Given the description of an element on the screen output the (x, y) to click on. 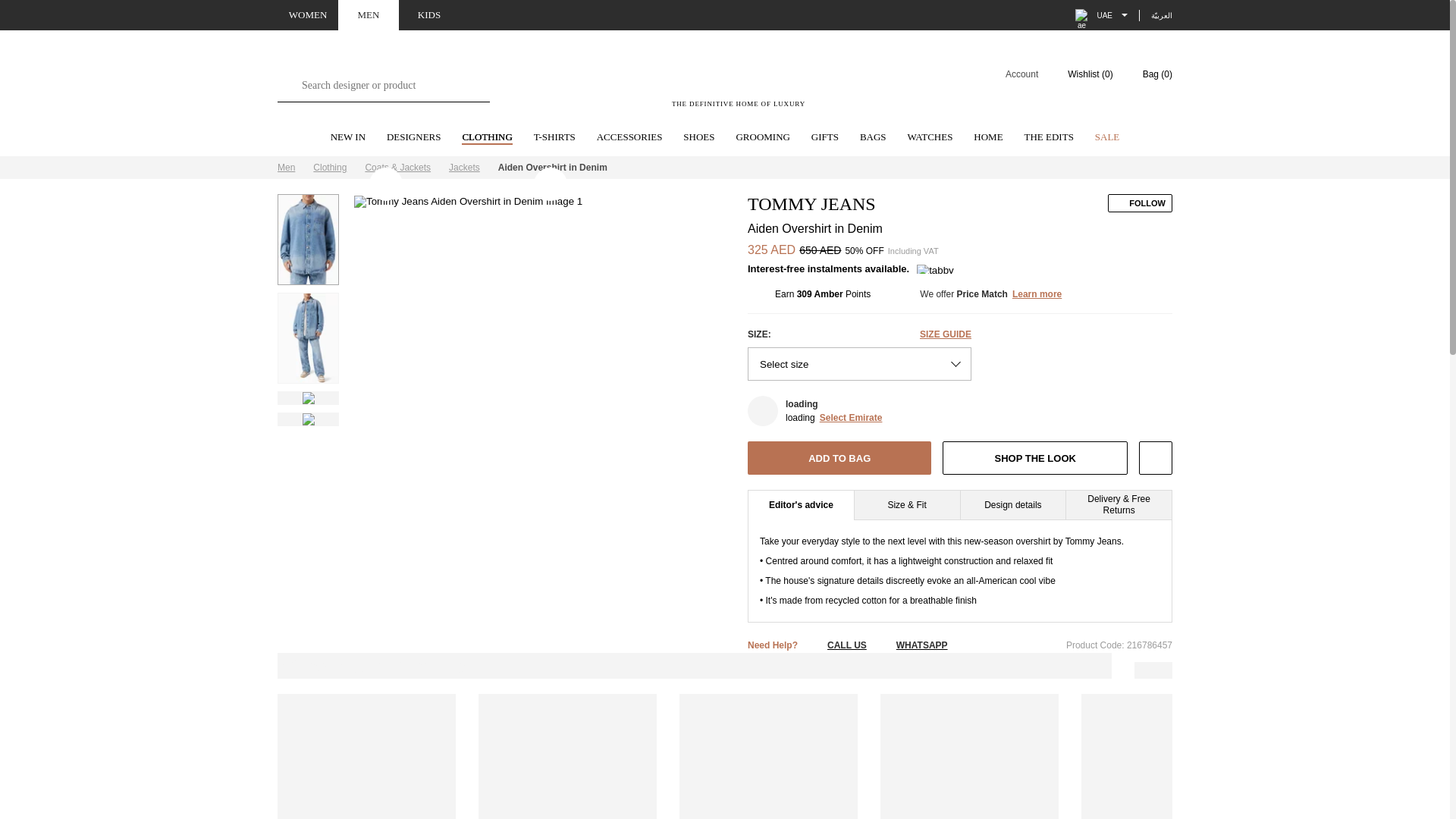
SALE (1106, 137)
Men (286, 167)
DESIGNERS (414, 137)
BAGS (873, 137)
ACCESSORIES (629, 137)
NEW IN (347, 137)
UAE (1101, 15)
WATCHES (929, 137)
WOMEN (307, 15)
HOME (988, 137)
